Given the description of an element on the screen output the (x, y) to click on. 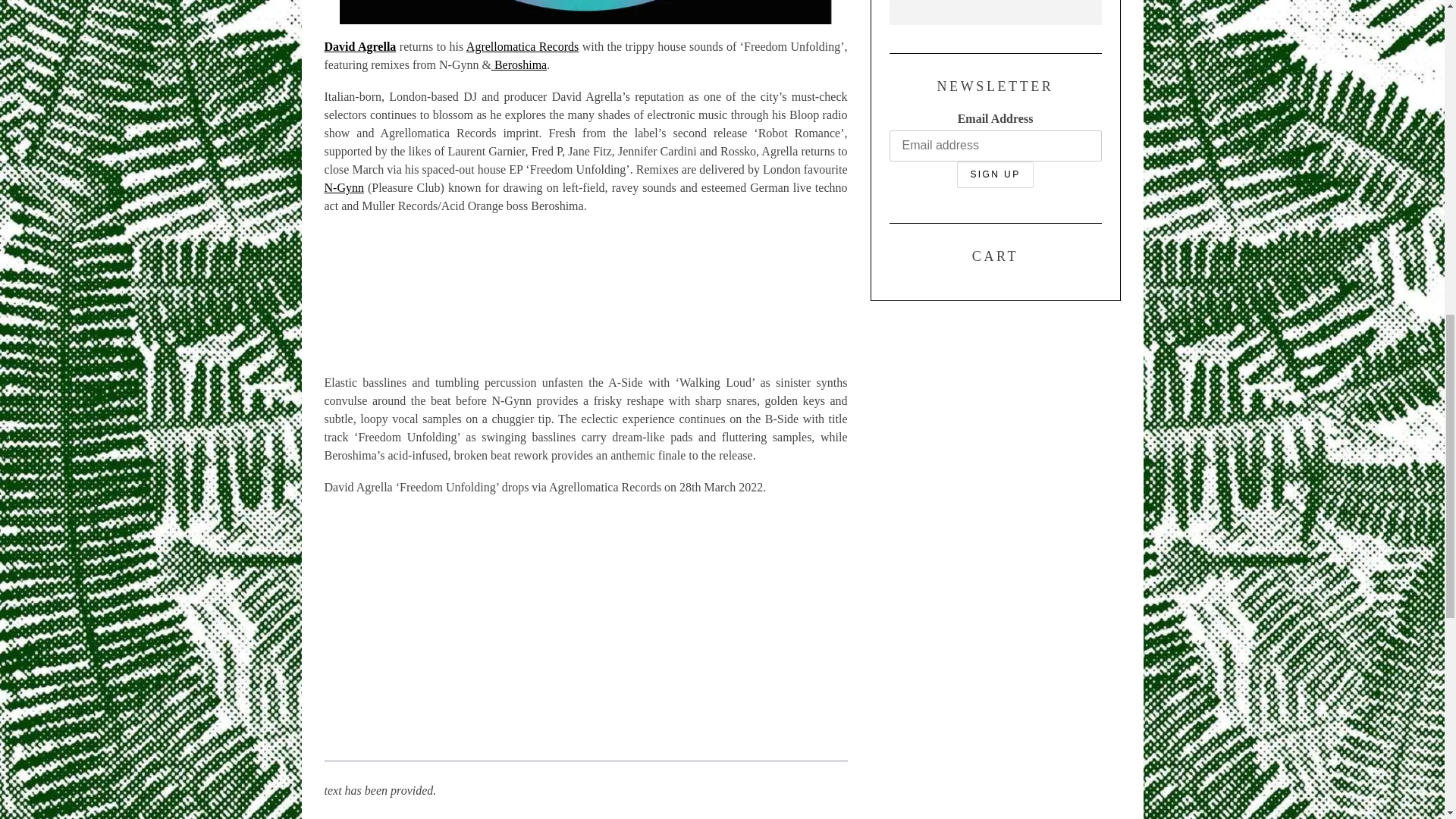
Sign up (994, 174)
